Given the description of an element on the screen output the (x, y) to click on. 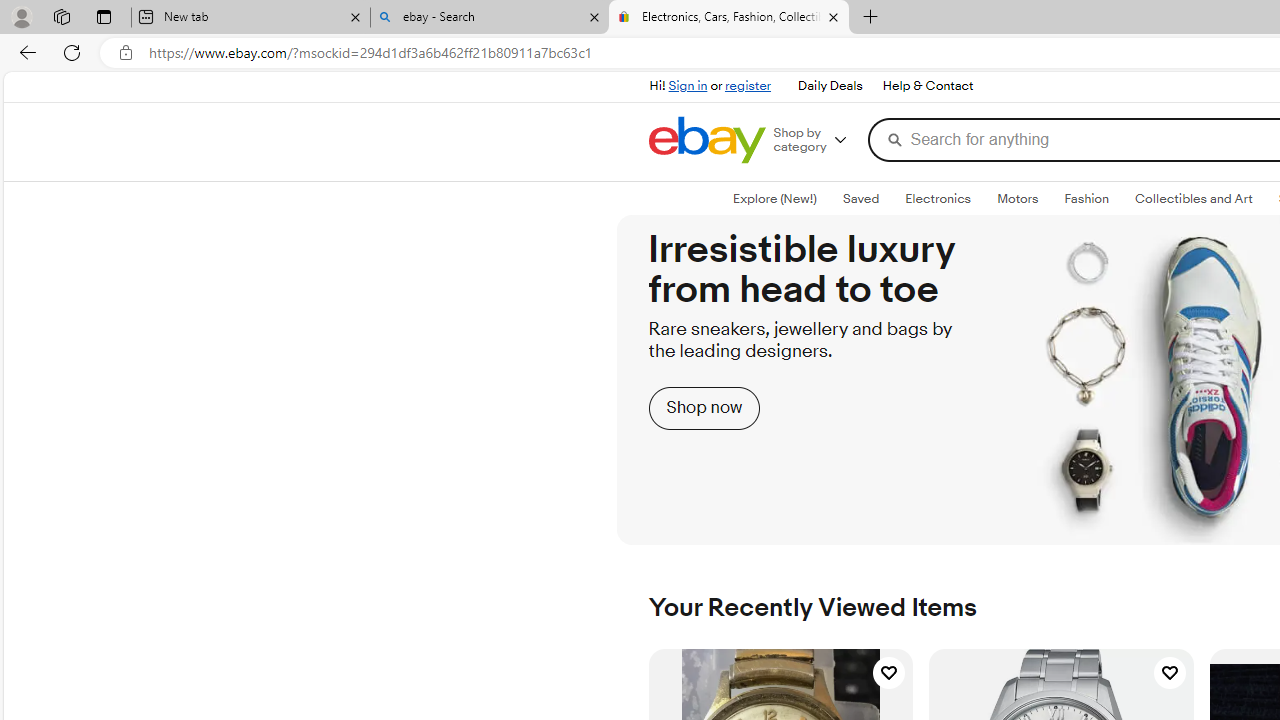
Shop by category (816, 140)
Class: savedTab (861, 199)
Fashion (1085, 198)
Motors (1018, 198)
Electronics (937, 198)
Sign in (687, 85)
eBay Home (706, 139)
Class: vl-flyout-nav__js-tab (1193, 199)
Daily Deals (829, 86)
